Given the description of an element on the screen output the (x, y) to click on. 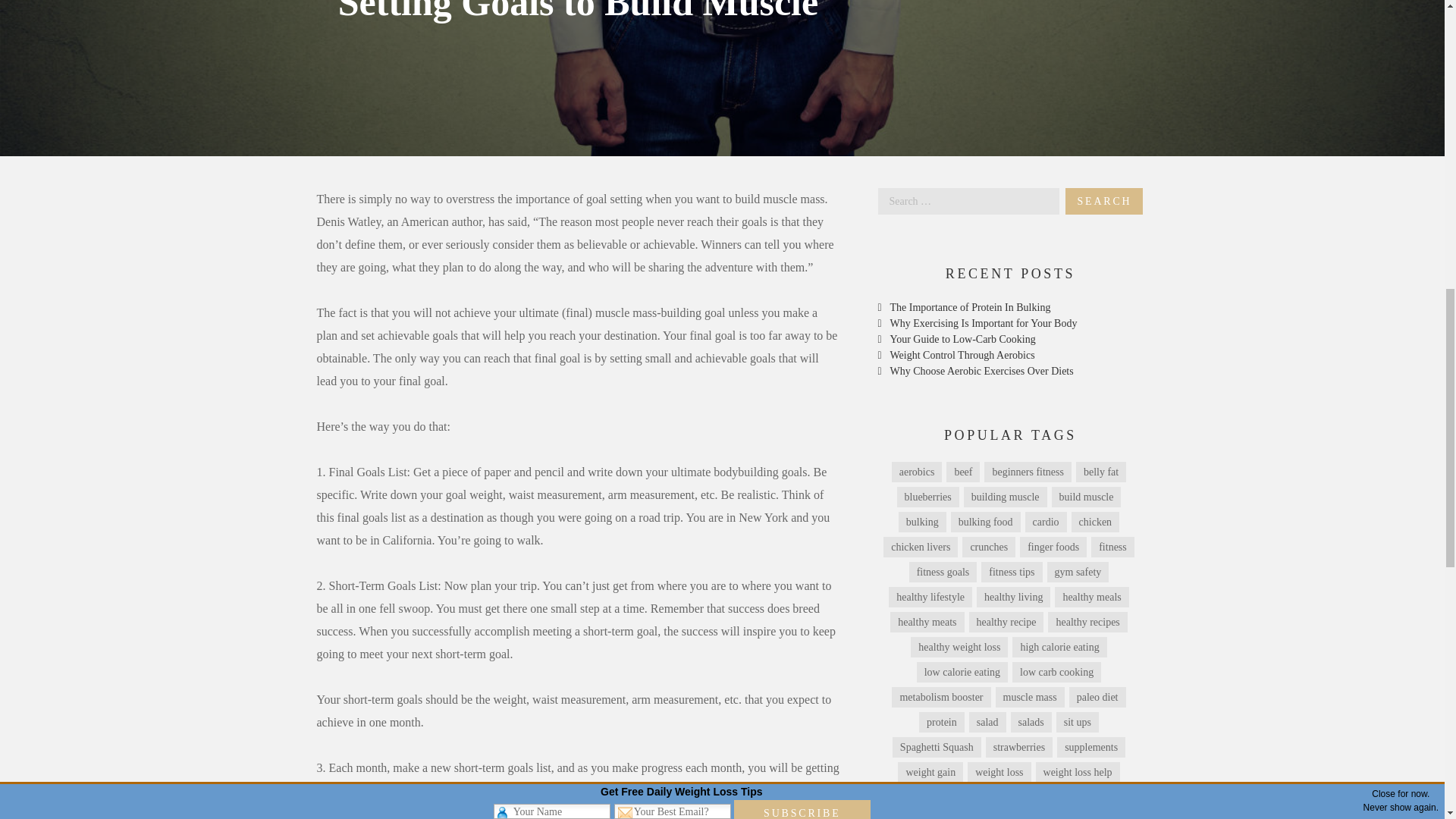
Search (1103, 201)
Search (1103, 201)
Search for: (968, 201)
